Given the description of an element on the screen output the (x, y) to click on. 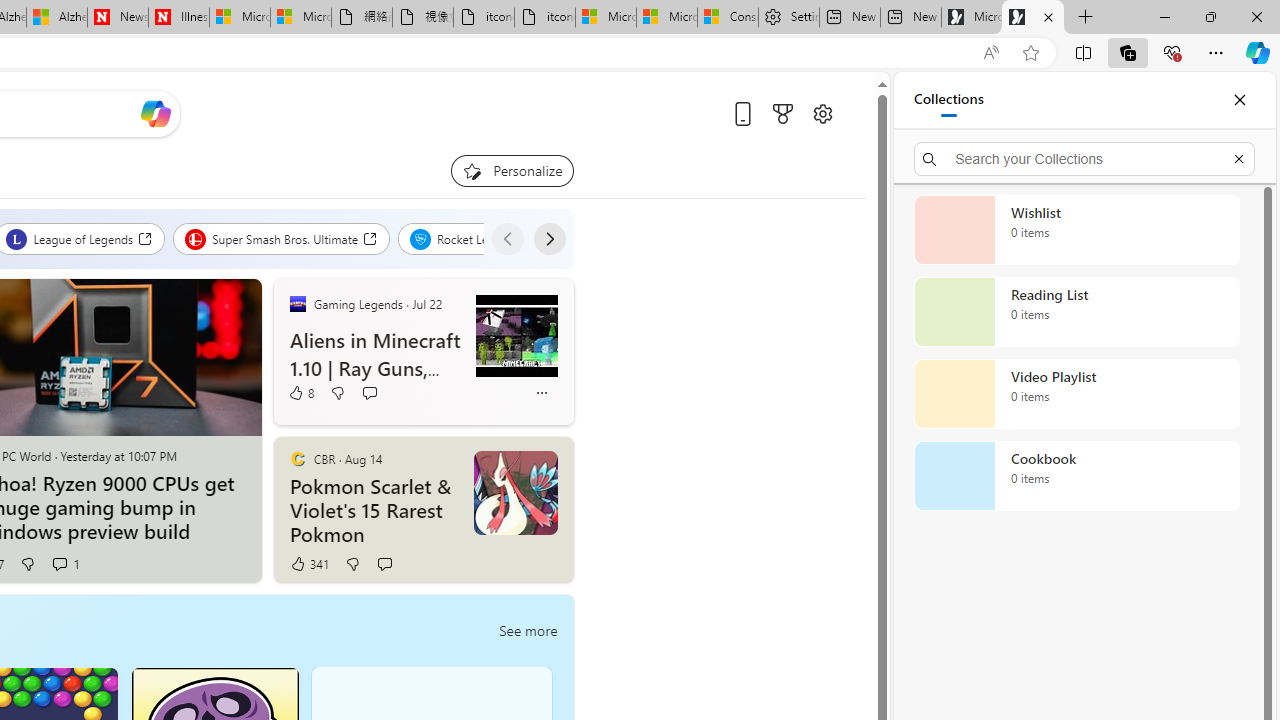
341 Like (308, 564)
itconcepthk.com/projector_solutions.mp4 (544, 17)
Pokmon Scarlet & Violet's 15 Rarest Pokmon (375, 511)
Consumer Health Data Privacy Policy (727, 17)
8 Like (300, 392)
